Given the description of an element on the screen output the (x, y) to click on. 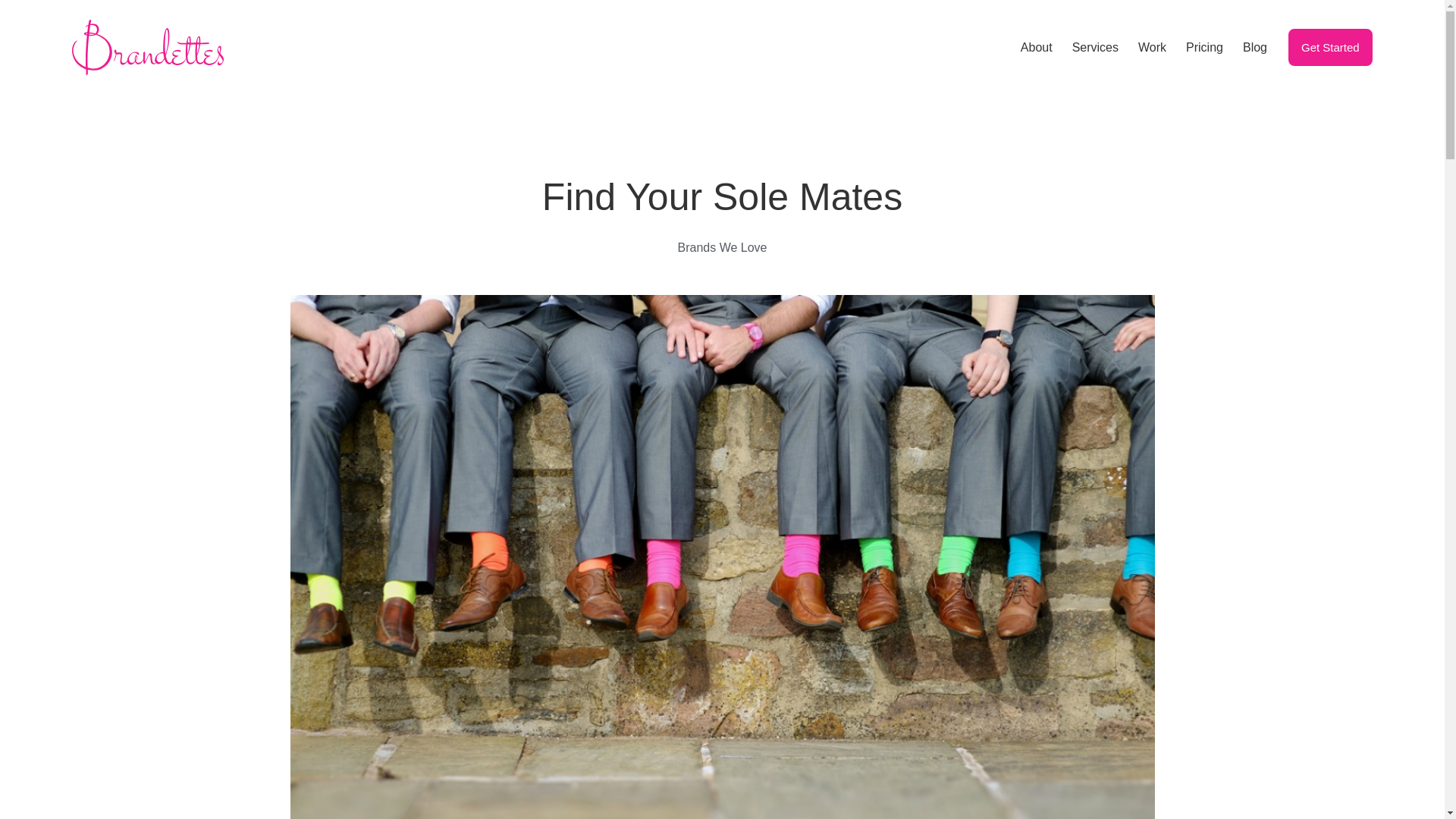
Pricing (1204, 47)
Blog (1254, 47)
About (1036, 47)
Get Started (1330, 47)
Work (1152, 47)
Brands We Love (722, 246)
Services (1095, 47)
